Given the description of an element on the screen output the (x, y) to click on. 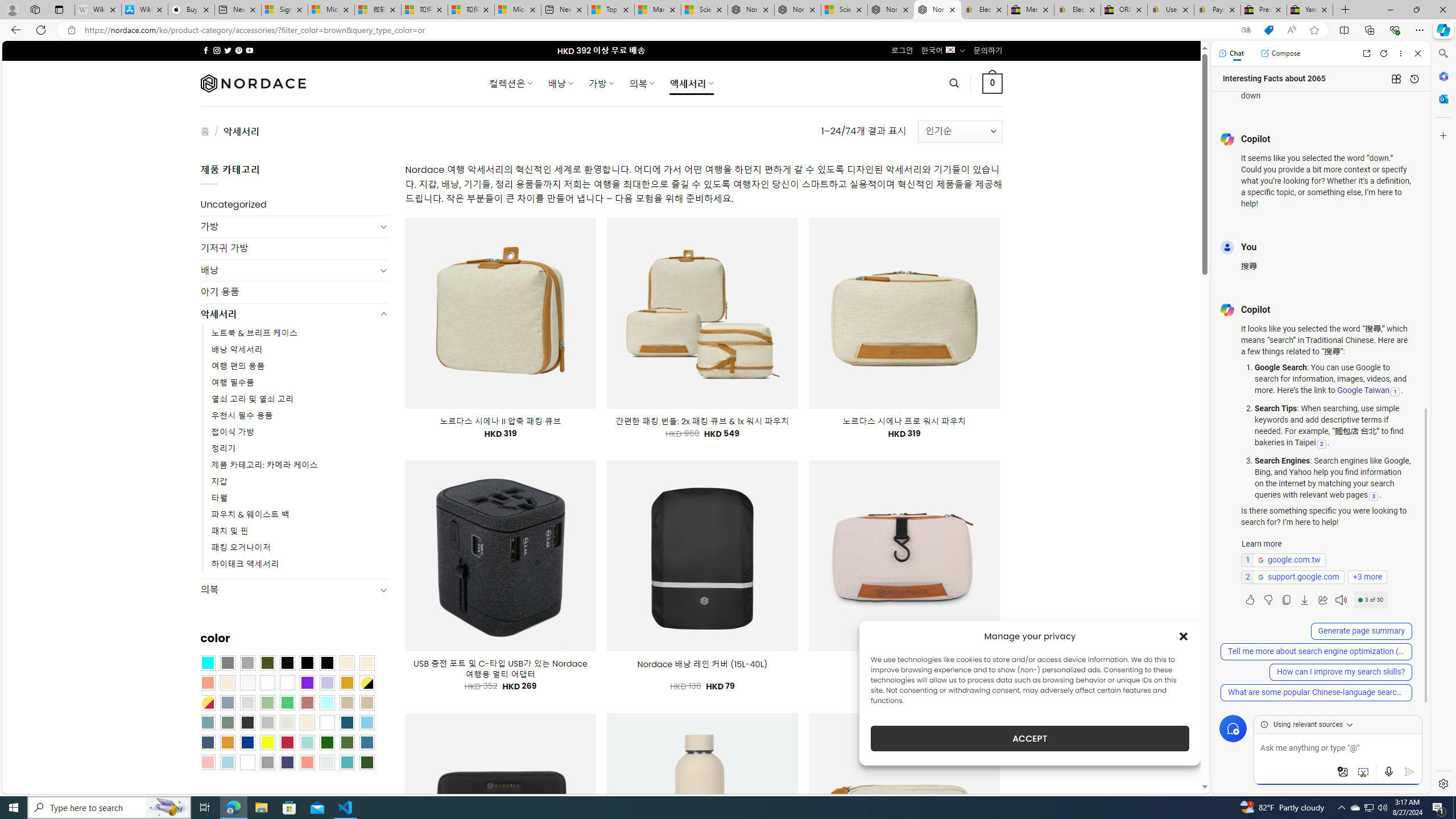
Cream (226, 681)
Follow on Facebook (205, 50)
